Given the description of an element on the screen output the (x, y) to click on. 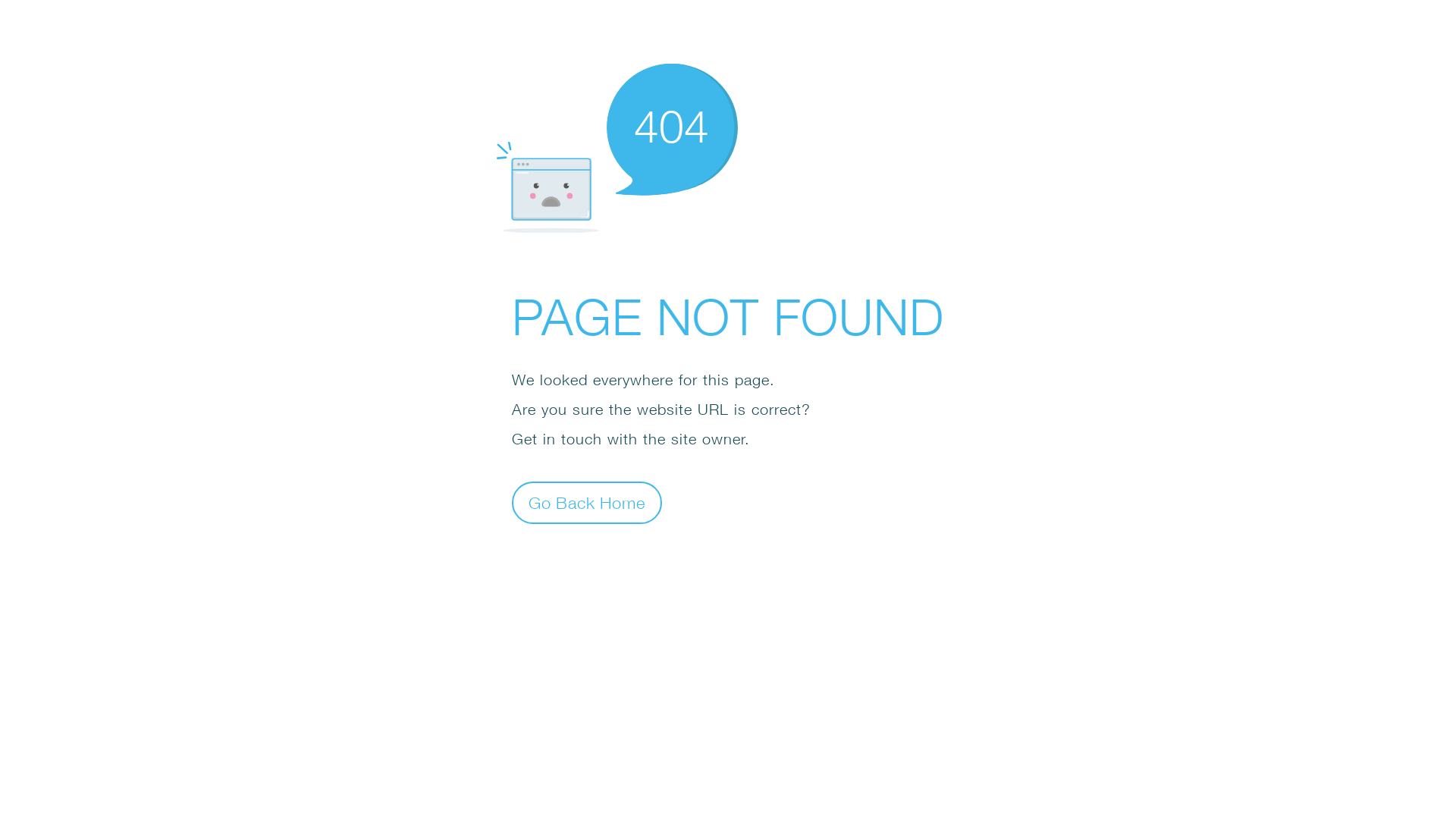
Go Back Home Element type: text (586, 502)
